Given the description of an element on the screen output the (x, y) to click on. 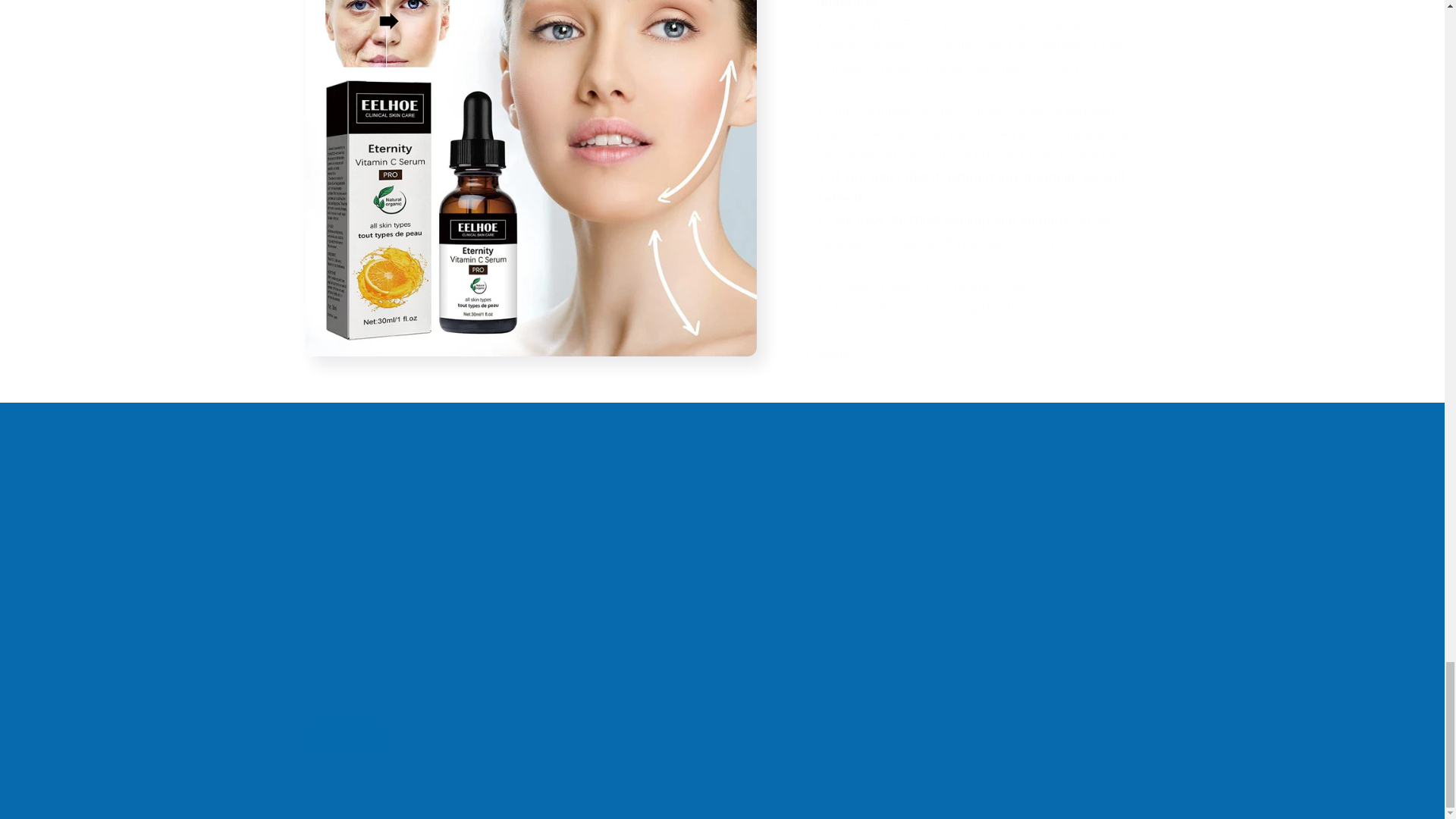
About us (327, 516)
Shipping Policy (344, 567)
